Given the description of an element on the screen output the (x, y) to click on. 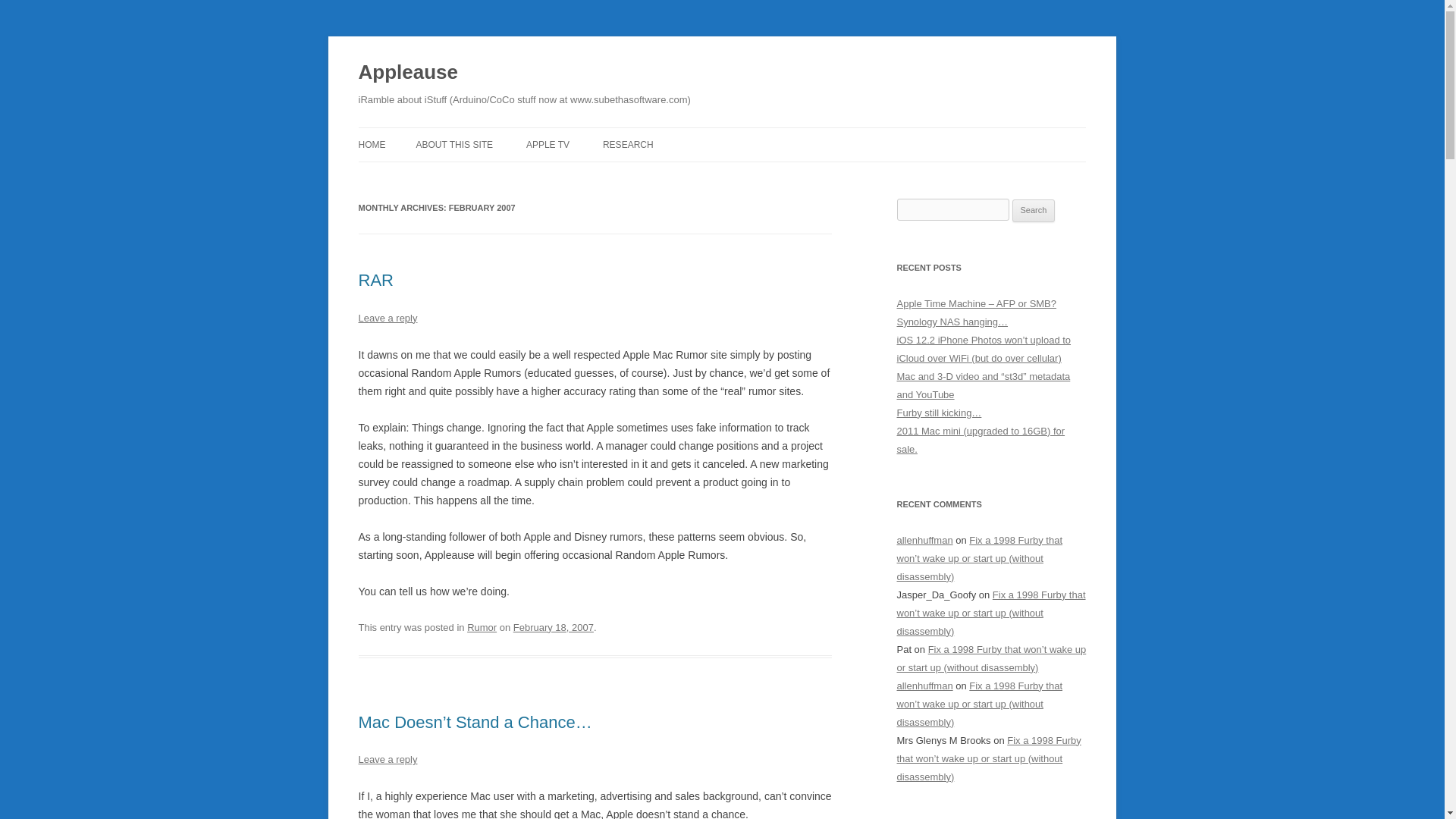
Search (1033, 210)
ABOUT THIS SITE (453, 144)
RESEARCH (627, 144)
Leave a reply (387, 317)
Appleause (407, 72)
Search (1033, 210)
Leave a reply (387, 758)
HOME (371, 144)
APPLE TV (547, 144)
February 18, 2007 (553, 627)
Rumor (481, 627)
RAR (375, 280)
1:09 am (553, 627)
